Given the description of an element on the screen output the (x, y) to click on. 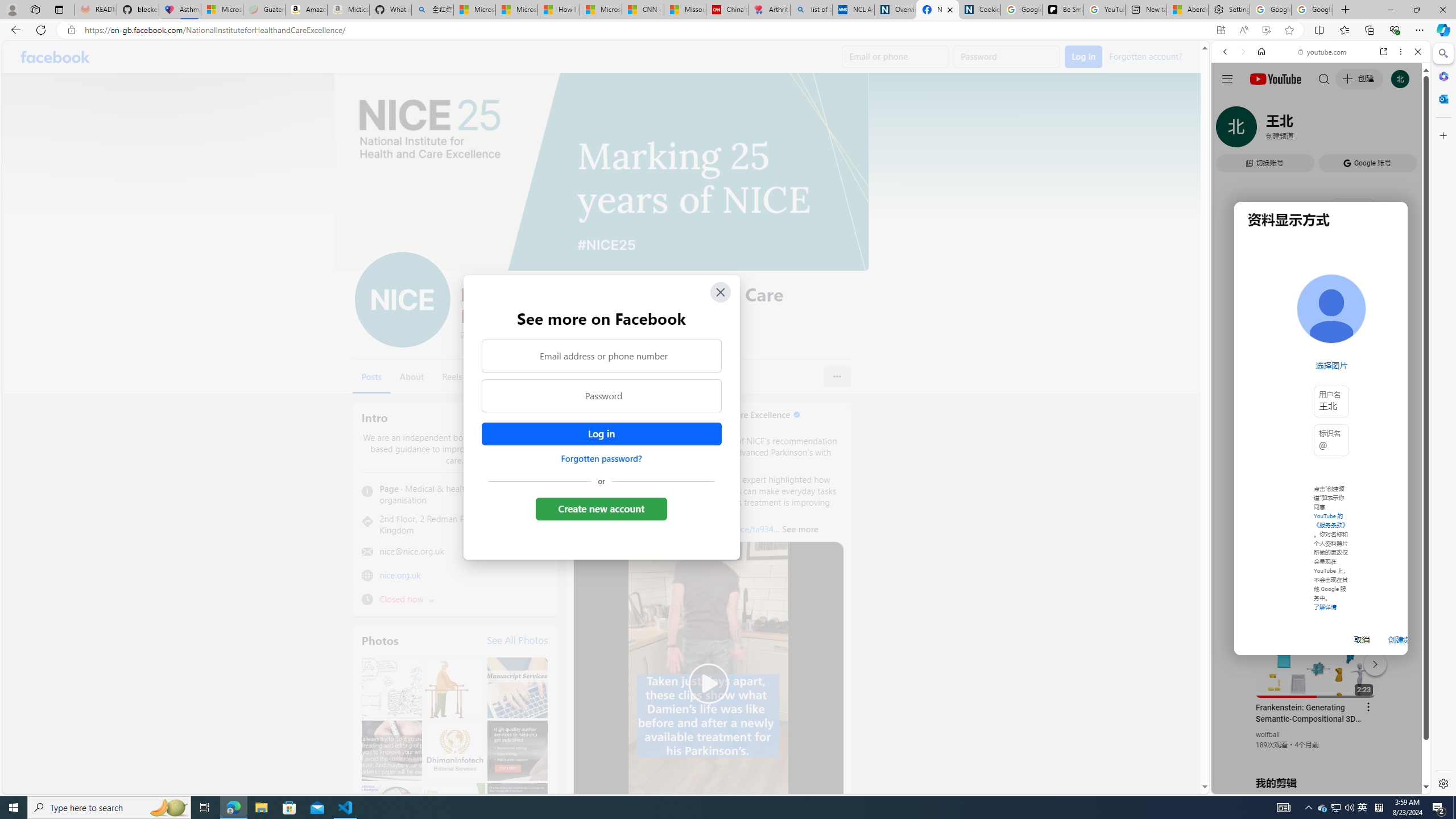
you (1315, 755)
Show More Music (1390, 310)
Forgotten account? (1145, 55)
youtube.com (1322, 51)
